Given the description of an element on the screen output the (x, y) to click on. 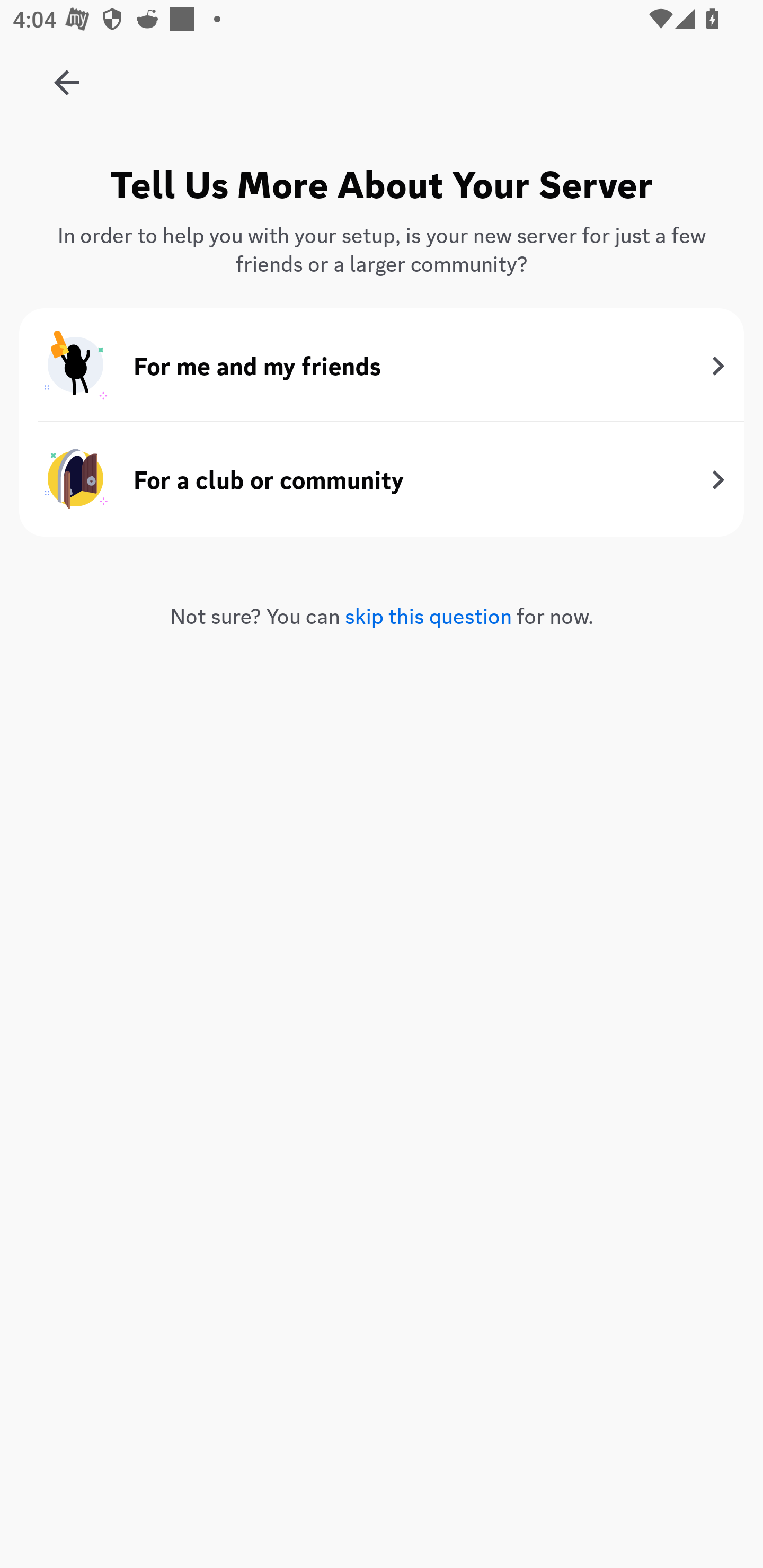
  Study Group Sunday 5PM SGS5 (66, 75)
For me and my friends (381, 365)
For a club or community (381, 478)
general (text channel) general (413, 460)
